Given the description of an element on the screen output the (x, y) to click on. 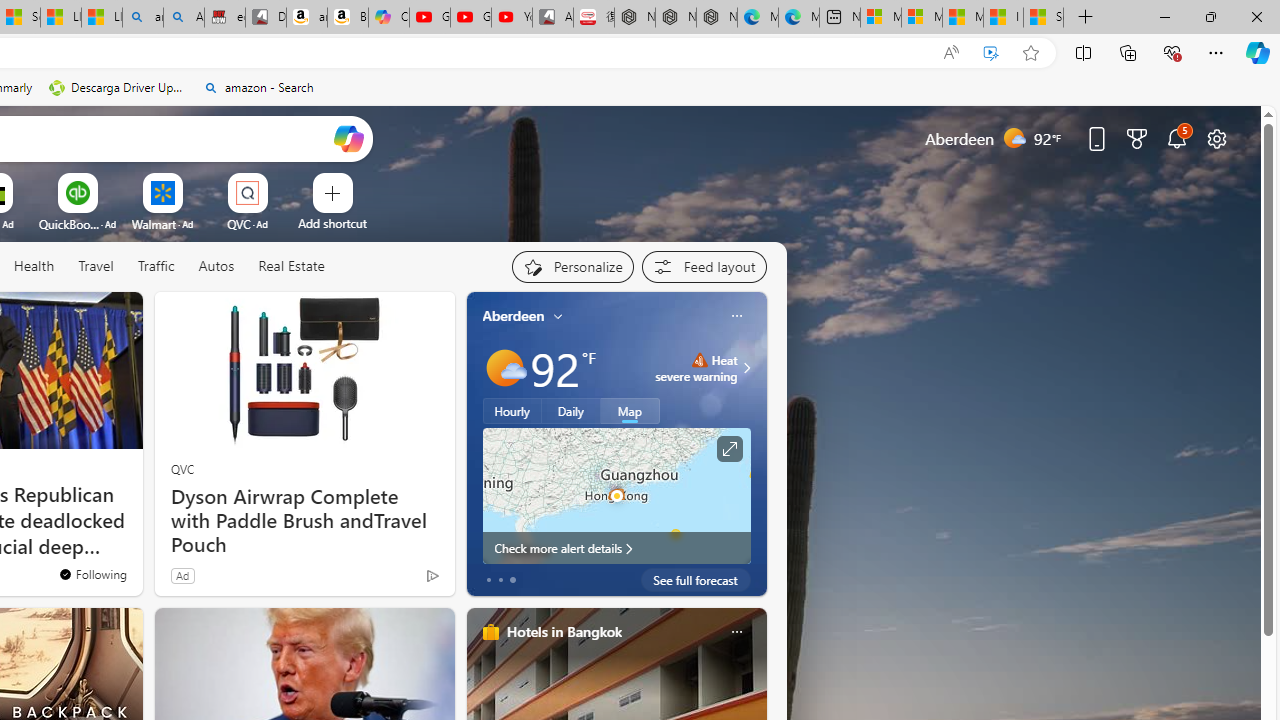
Open Copilot (347, 138)
Copilot (388, 17)
Check more alert details (616, 547)
Travel (95, 267)
Class: weather-arrow-glyph (746, 367)
Feed settings (703, 266)
Personalize your feed" (571, 266)
See more (118, 315)
Amazon Echo Dot PNG - Search Images (183, 17)
next (756, 443)
Open Copilot (347, 138)
Mostly sunny (504, 368)
